Given the description of an element on the screen output the (x, y) to click on. 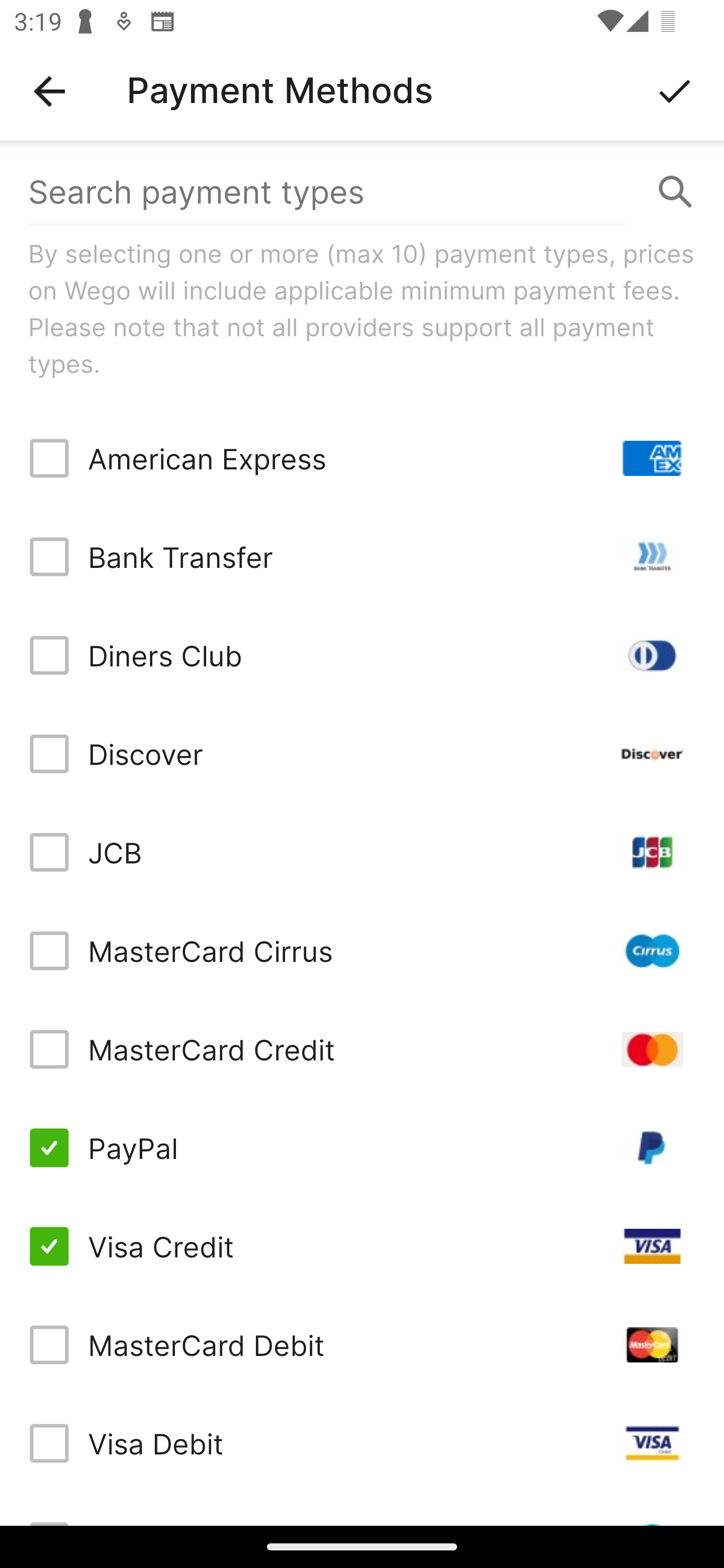
Search payment types  (361, 191)
American Express (362, 458)
Bank Transfer (362, 557)
Diners Club (362, 655)
Discover (362, 753)
JCB (362, 851)
MasterCard Cirrus (362, 950)
MasterCard Credit (362, 1049)
PayPal (362, 1147)
Visa Credit (362, 1245)
MasterCard Debit (362, 1344)
Visa Debit (362, 1442)
